Given the description of an element on the screen output the (x, y) to click on. 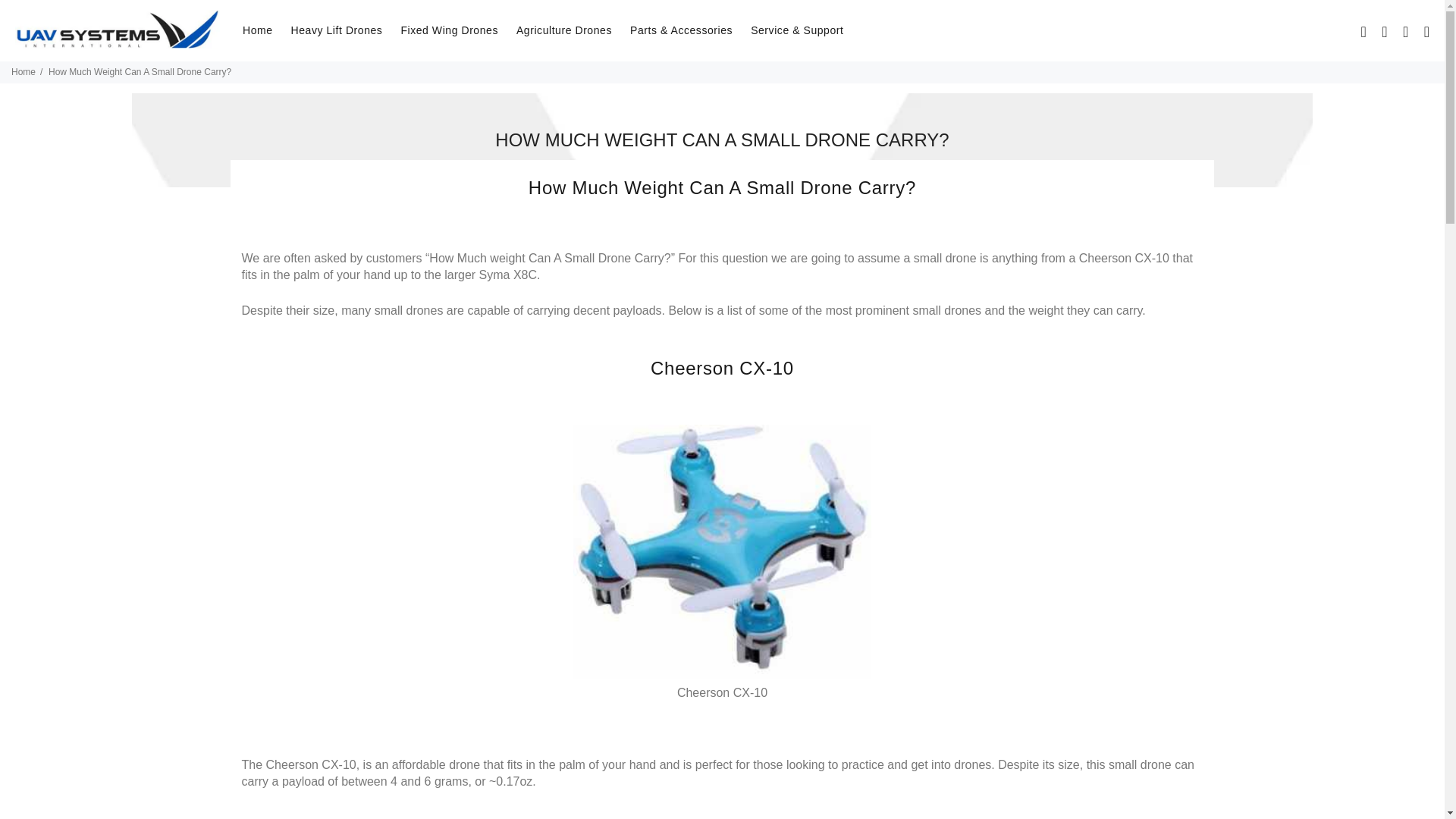
Home (22, 71)
Agriculture Drones (563, 30)
Fixed Wing Drones (448, 30)
Heavy Lift Drones (336, 30)
Cheerson CX-10 (721, 551)
Home (257, 30)
